Given the description of an element on the screen output the (x, y) to click on. 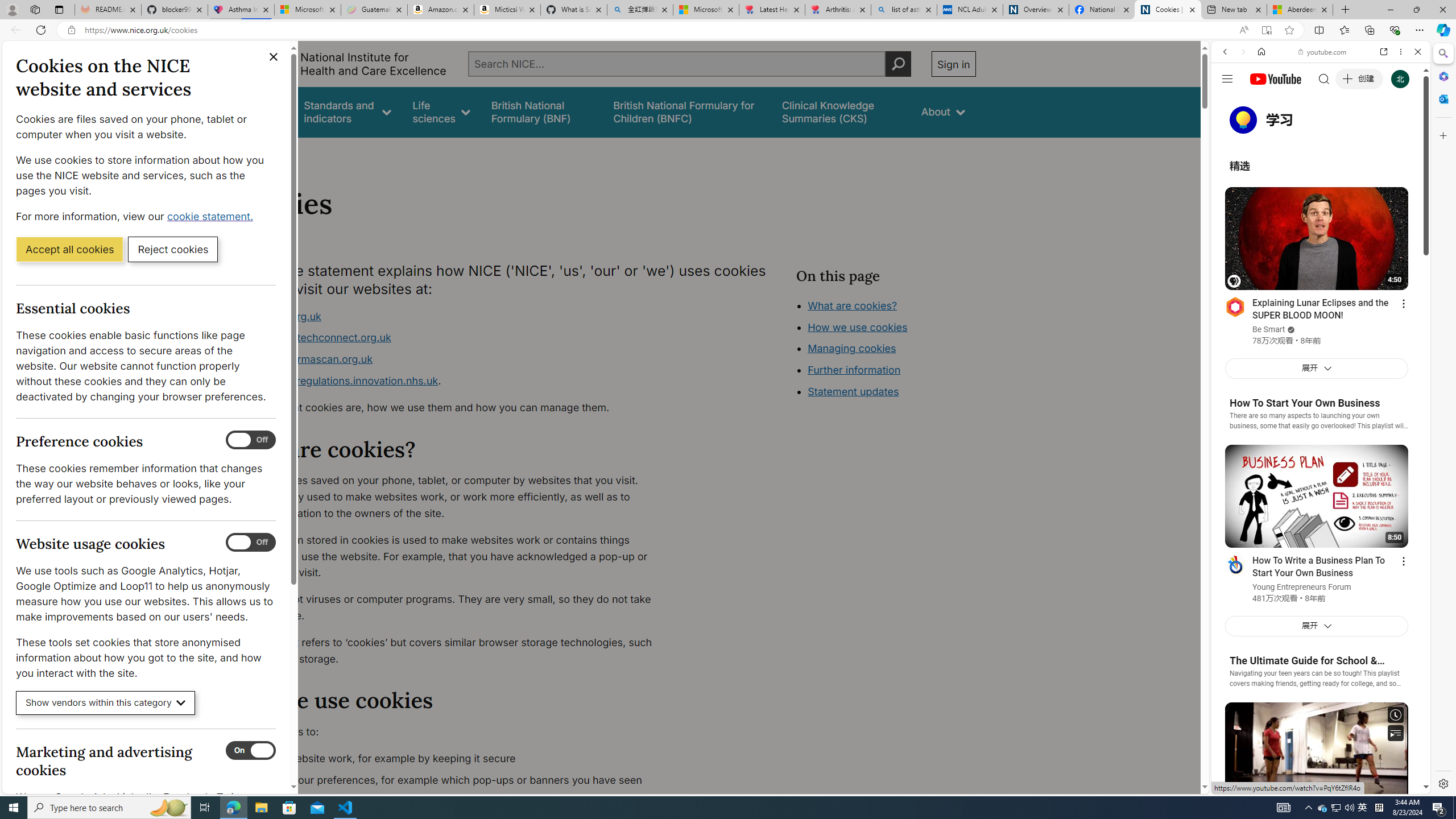
How we use cookies (857, 327)
YouTube - YouTube (1315, 560)
Class: dict_pnIcon rms_img (1312, 784)
make our website work, for example by keeping it secure (452, 759)
Perform search (898, 63)
Home> (246, 152)
Life sciences (440, 111)
